Given the description of an element on the screen output the (x, y) to click on. 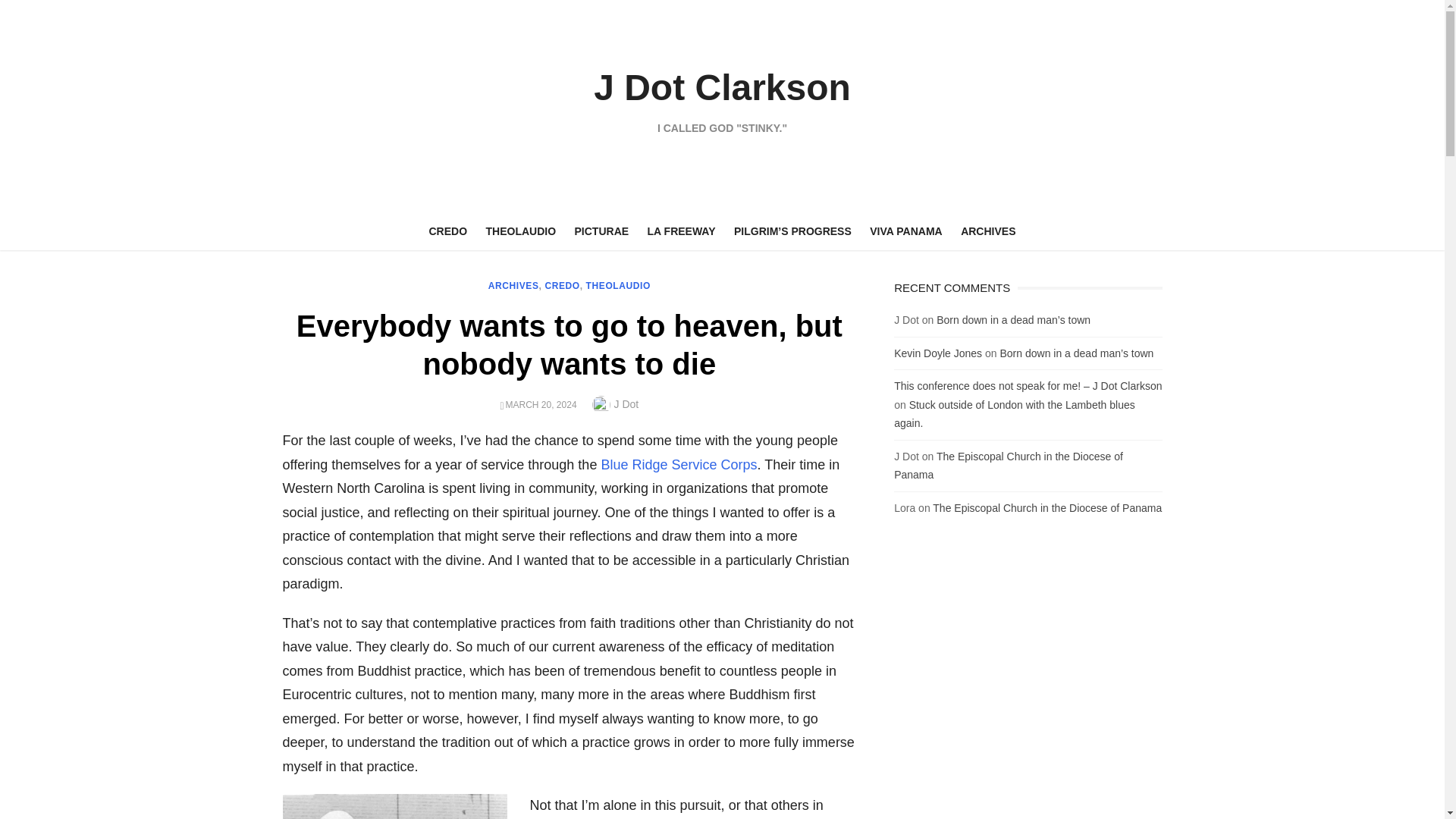
ARCHIVES (512, 285)
Blue Ridge Service Corps (678, 463)
THEOLAUDIO (618, 285)
ARCHIVES (988, 231)
LA FREEWAY (681, 231)
THEOLAUDIO (521, 231)
PICTURAE (602, 231)
CREDO (561, 285)
CREDO (449, 231)
J Dot (626, 404)
MARCH 20, 2024 (540, 404)
VIVA PANAMA (905, 231)
J Dot Clarkson (722, 87)
Kevin Doyle Jones (937, 353)
